Given the description of an element on the screen output the (x, y) to click on. 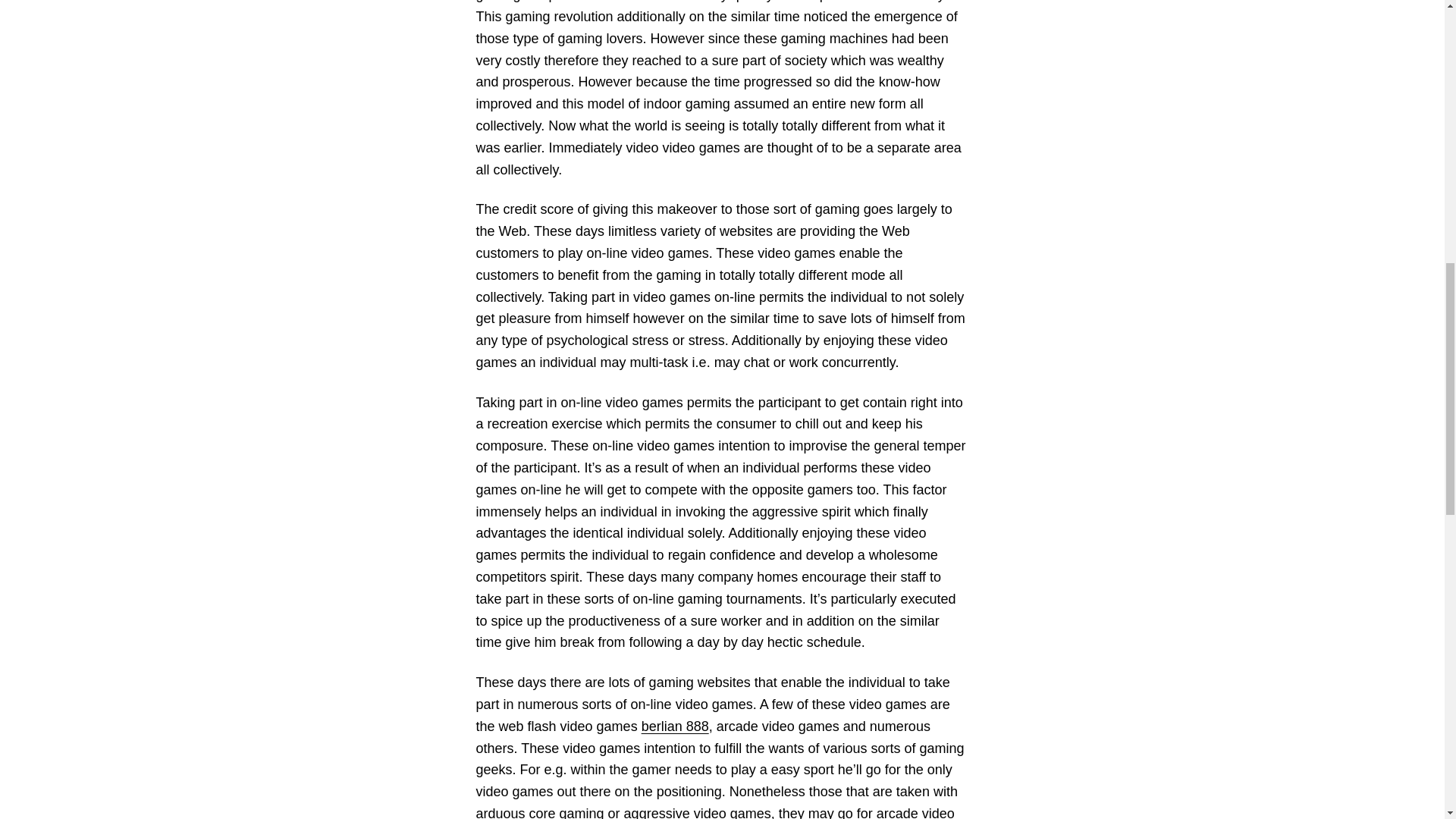
berlian 888 (675, 726)
